Given the description of an element on the screen output the (x, y) to click on. 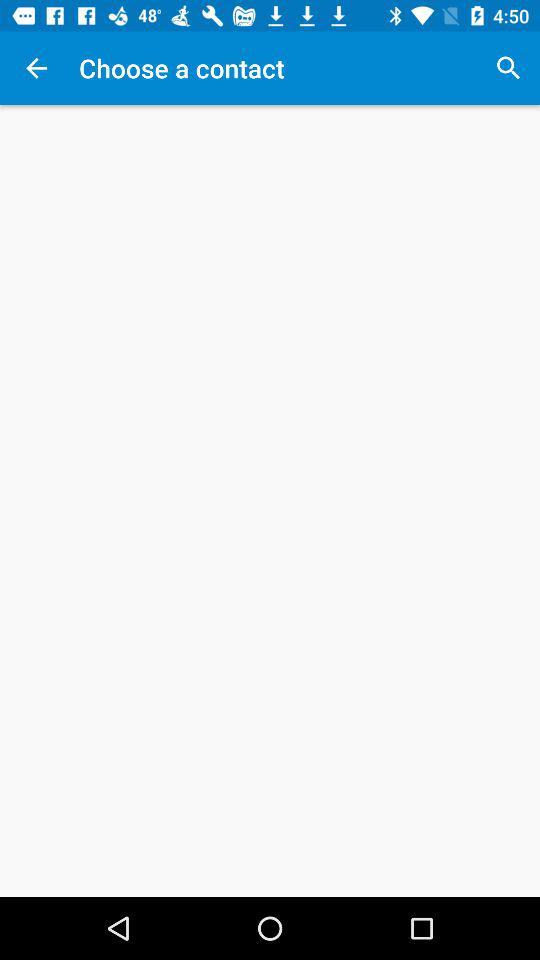
turn on icon next to choose a contact (508, 67)
